Given the description of an element on the screen output the (x, y) to click on. 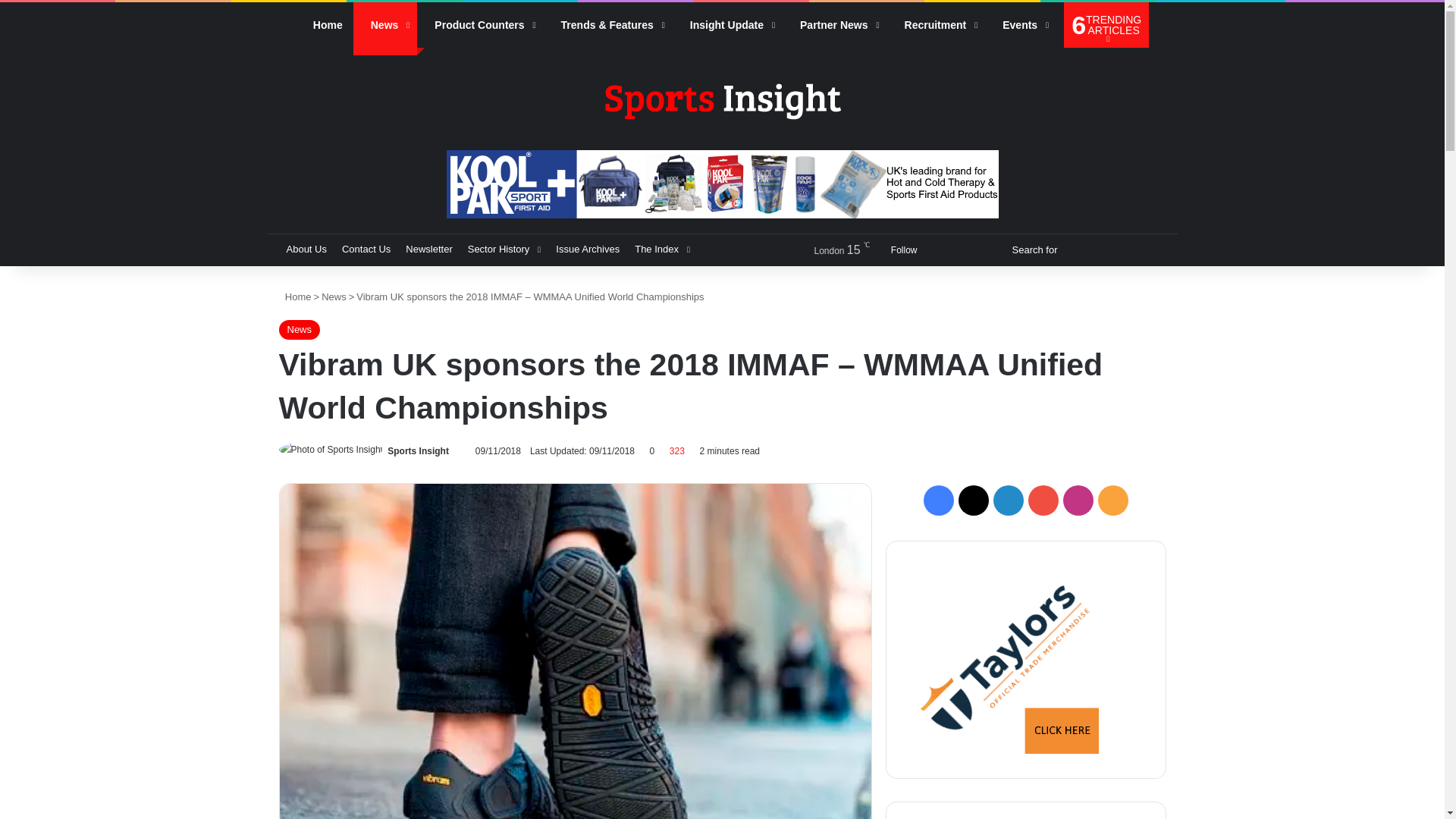
Events (1021, 24)
Sports Insight (721, 100)
Recruitment (935, 24)
Sports Insight (417, 450)
Scattered Clouds (827, 250)
Partner News (834, 24)
Home (324, 24)
Insight Update (727, 24)
News (385, 24)
Product Counters (479, 24)
